Given the description of an element on the screen output the (x, y) to click on. 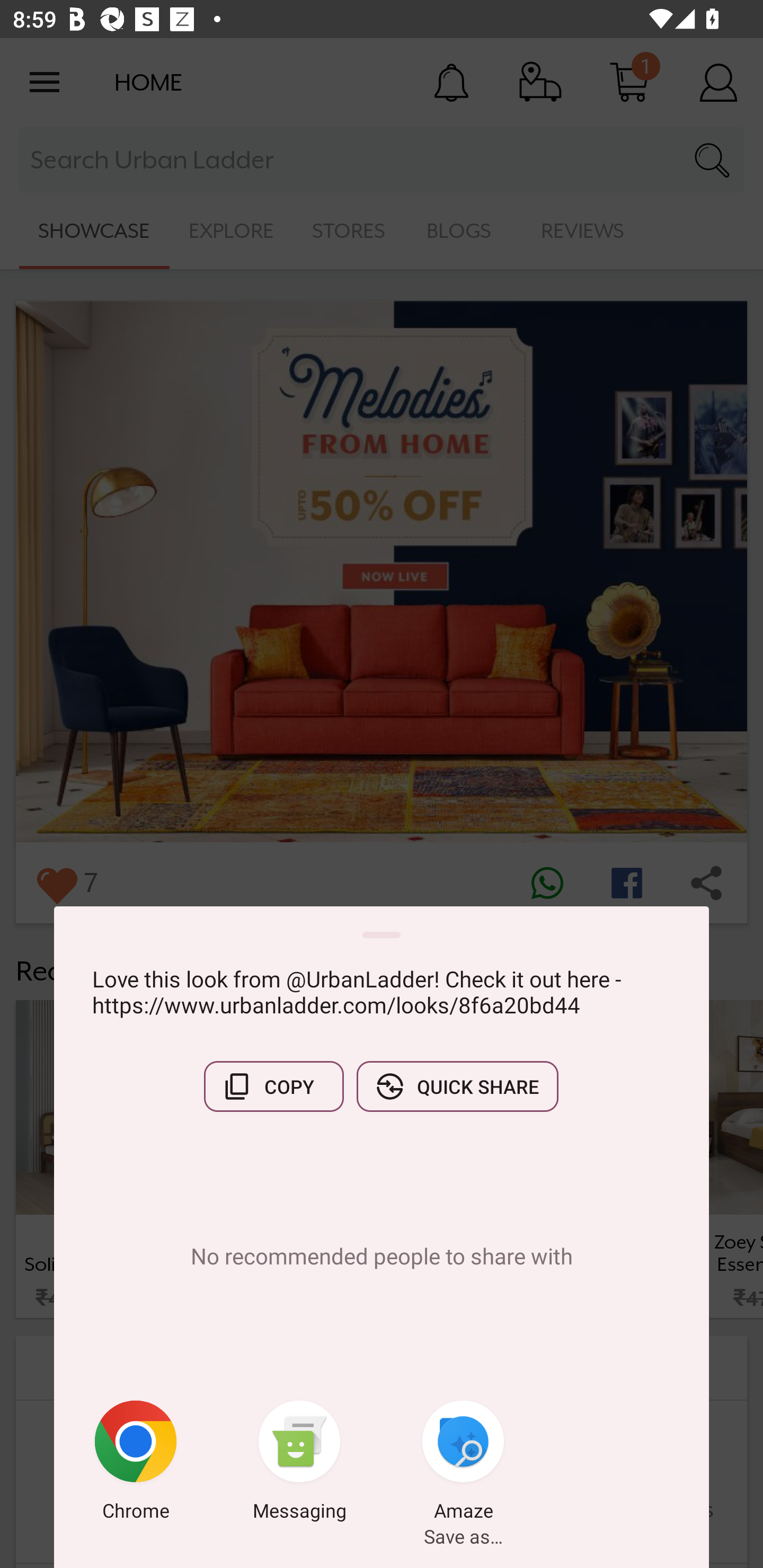
COPY (273, 1086)
QUICK SHARE (457, 1086)
Chrome (135, 1463)
Messaging (299, 1463)
Amaze Save as… (463, 1463)
